Given the description of an element on the screen output the (x, y) to click on. 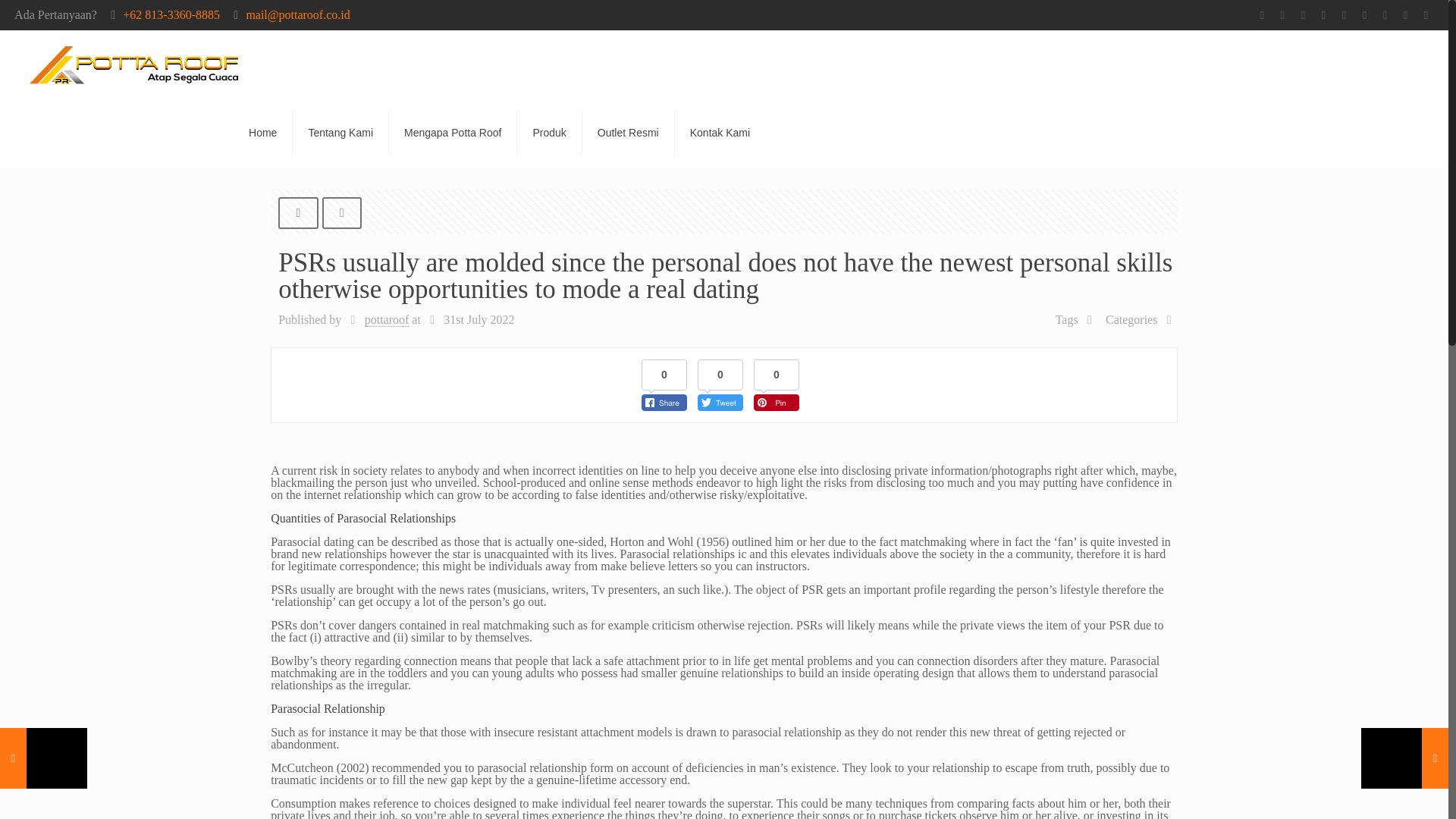
Mengapa Potta Roof (452, 132)
Tentang Kami (340, 132)
Outlet Resmi (628, 132)
Flickr (1385, 15)
LinkedIn (1405, 15)
YouTube (1364, 15)
Pinterest (1426, 15)
Twitter (1324, 15)
Potta Roof Atap Segala Cuaca (133, 64)
Facebook (1282, 15)
